Given the description of an element on the screen output the (x, y) to click on. 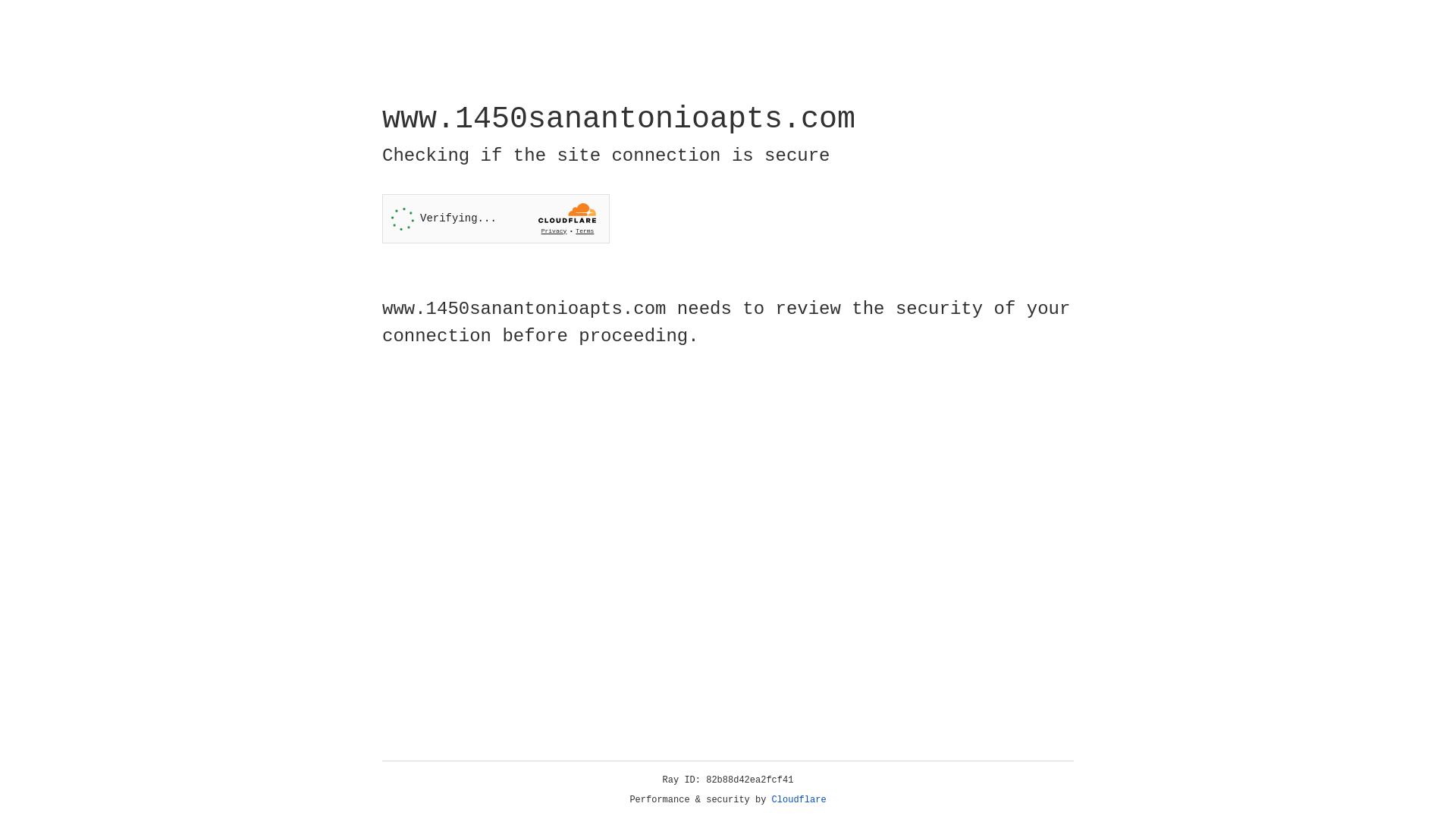
Cloudflare Element type: text (798, 799)
Widget containing a Cloudflare security challenge Element type: hover (495, 218)
